Given the description of an element on the screen output the (x, y) to click on. 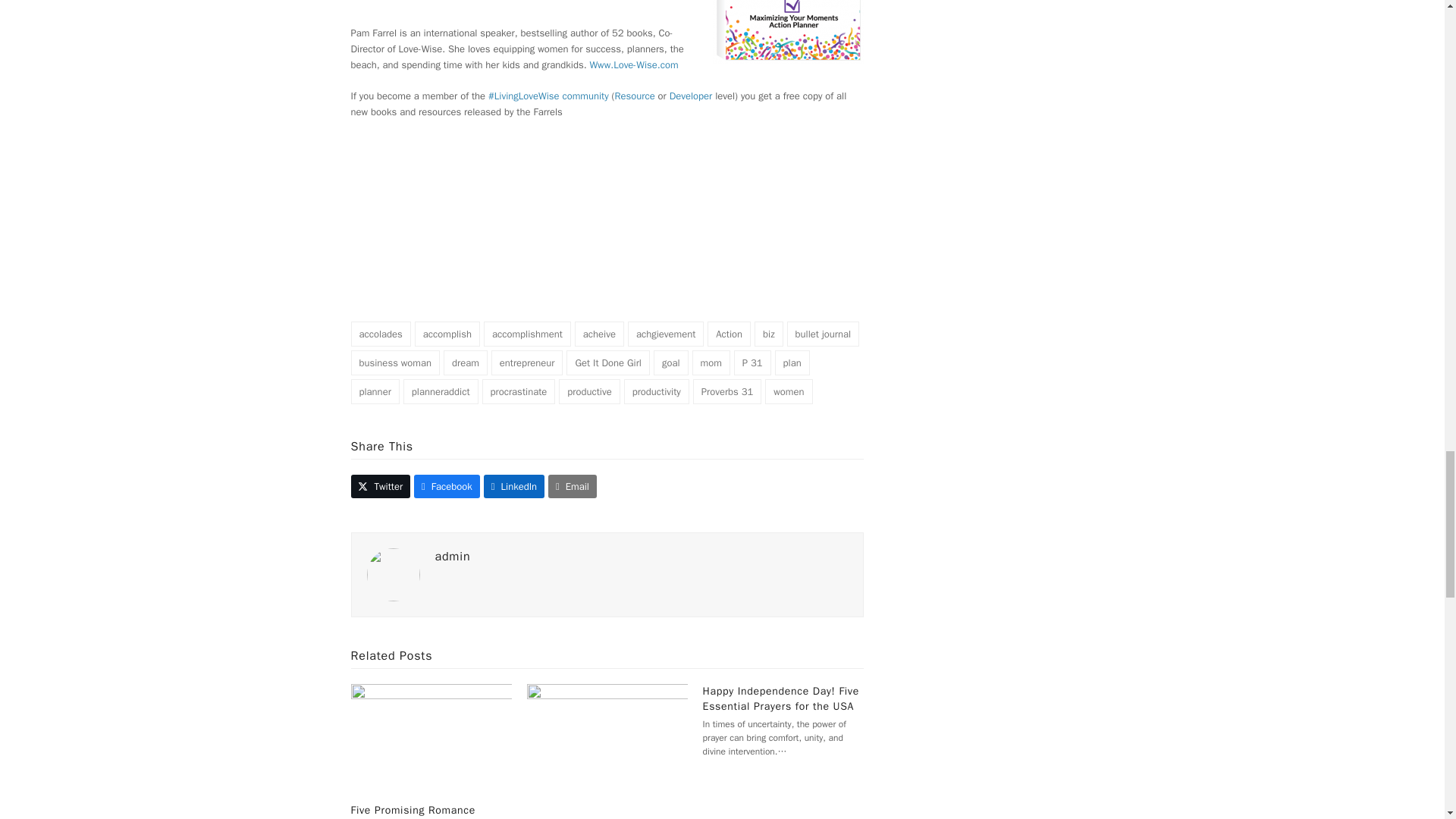
Visit Author Page (393, 574)
Visit Author Page (452, 556)
